Given the description of an element on the screen output the (x, y) to click on. 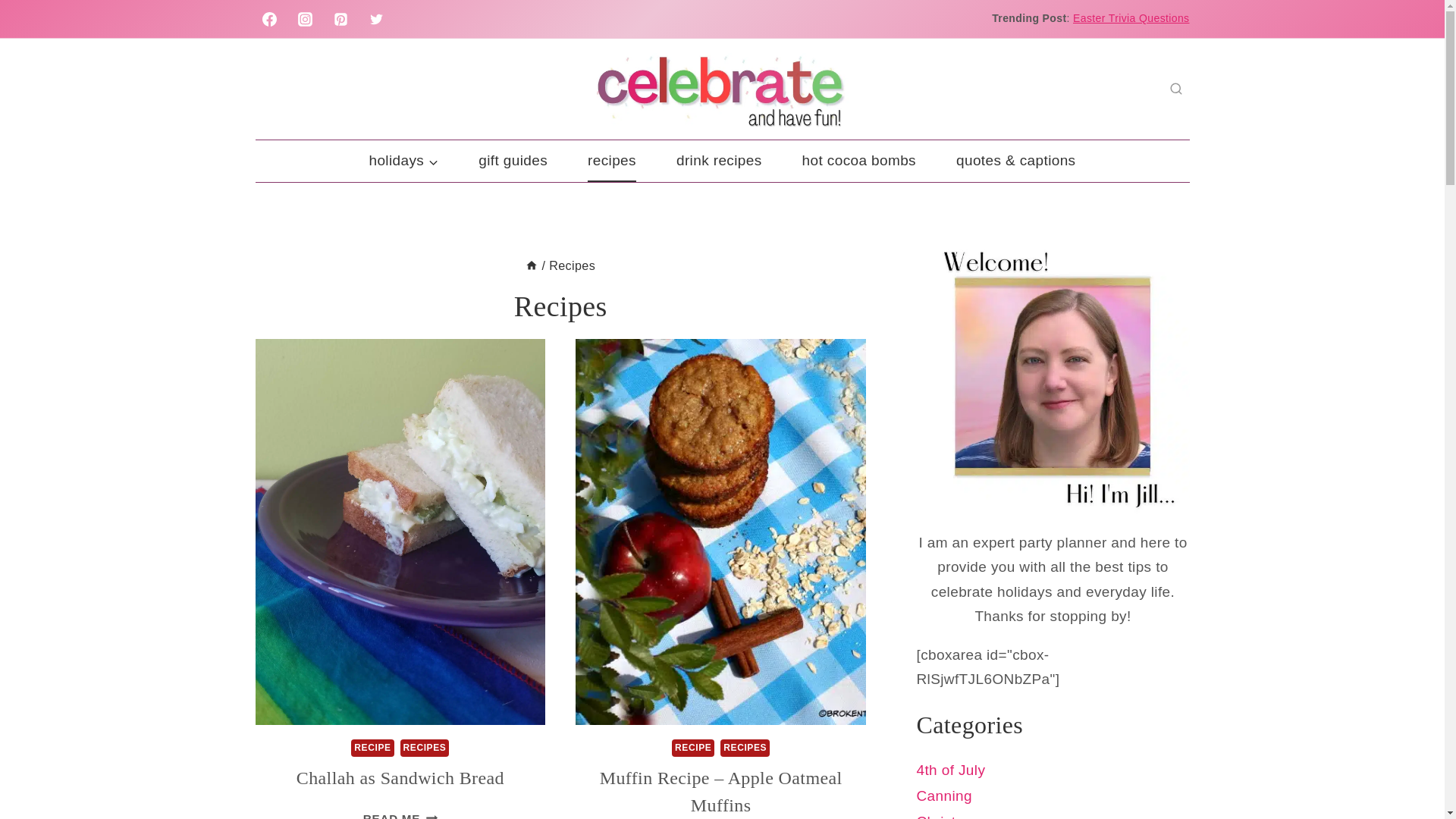
RECIPES (745, 747)
recipes (611, 160)
RECIPE (371, 747)
gift guides (512, 160)
RECIPE (400, 815)
Challah as Sandwich Bread (692, 747)
Easter Trivia Questions (400, 777)
drink recipes (1131, 18)
holidays (718, 160)
